Given the description of an element on the screen output the (x, y) to click on. 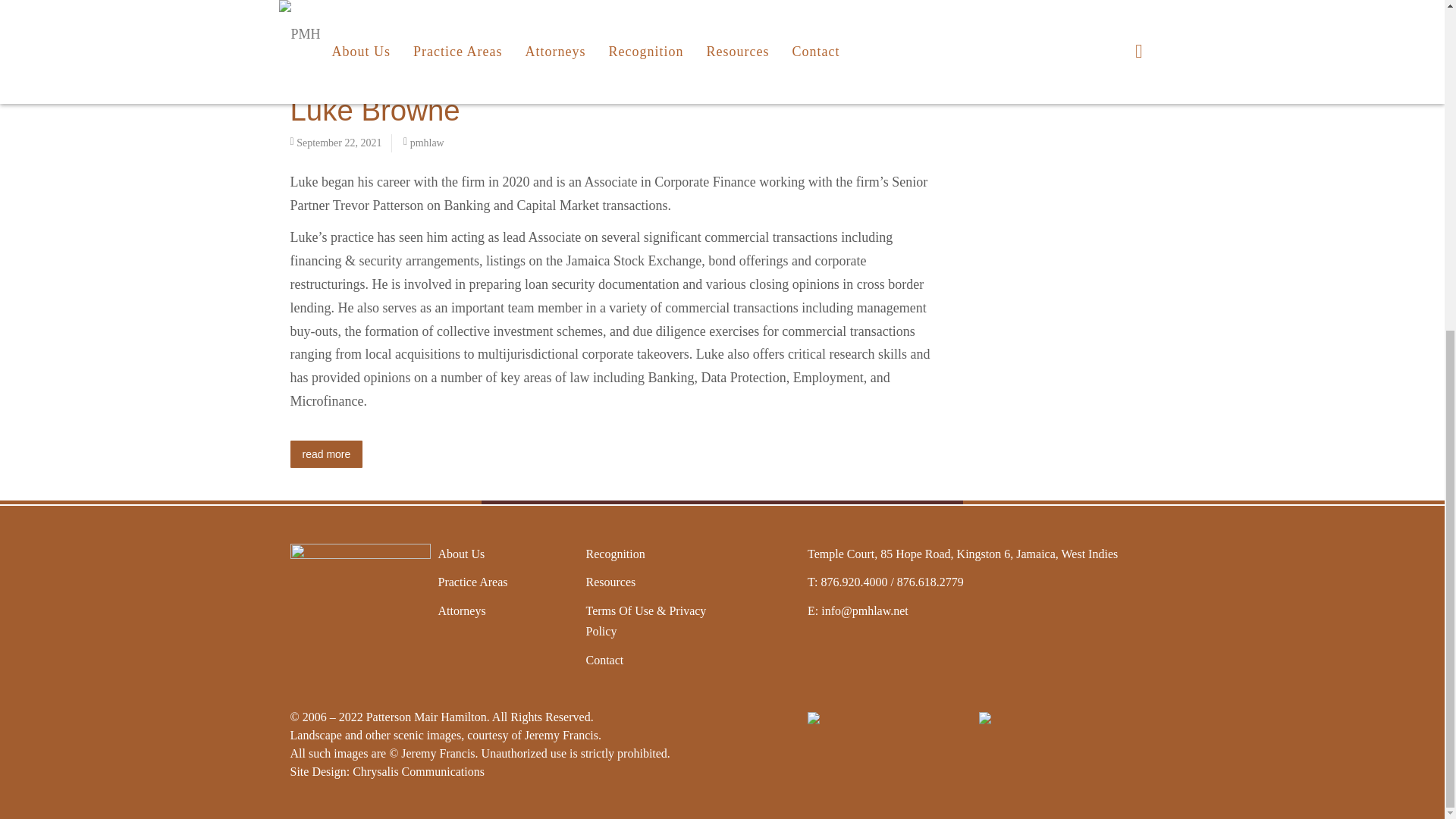
Recognition (615, 553)
Luke Browne (374, 110)
Permalink to Luke Browne (374, 110)
Contact (604, 660)
Attorneys (462, 610)
Practice Areas (473, 581)
pmhlaw (427, 142)
Resources (609, 581)
read more (325, 453)
About Us (461, 553)
